Given the description of an element on the screen output the (x, y) to click on. 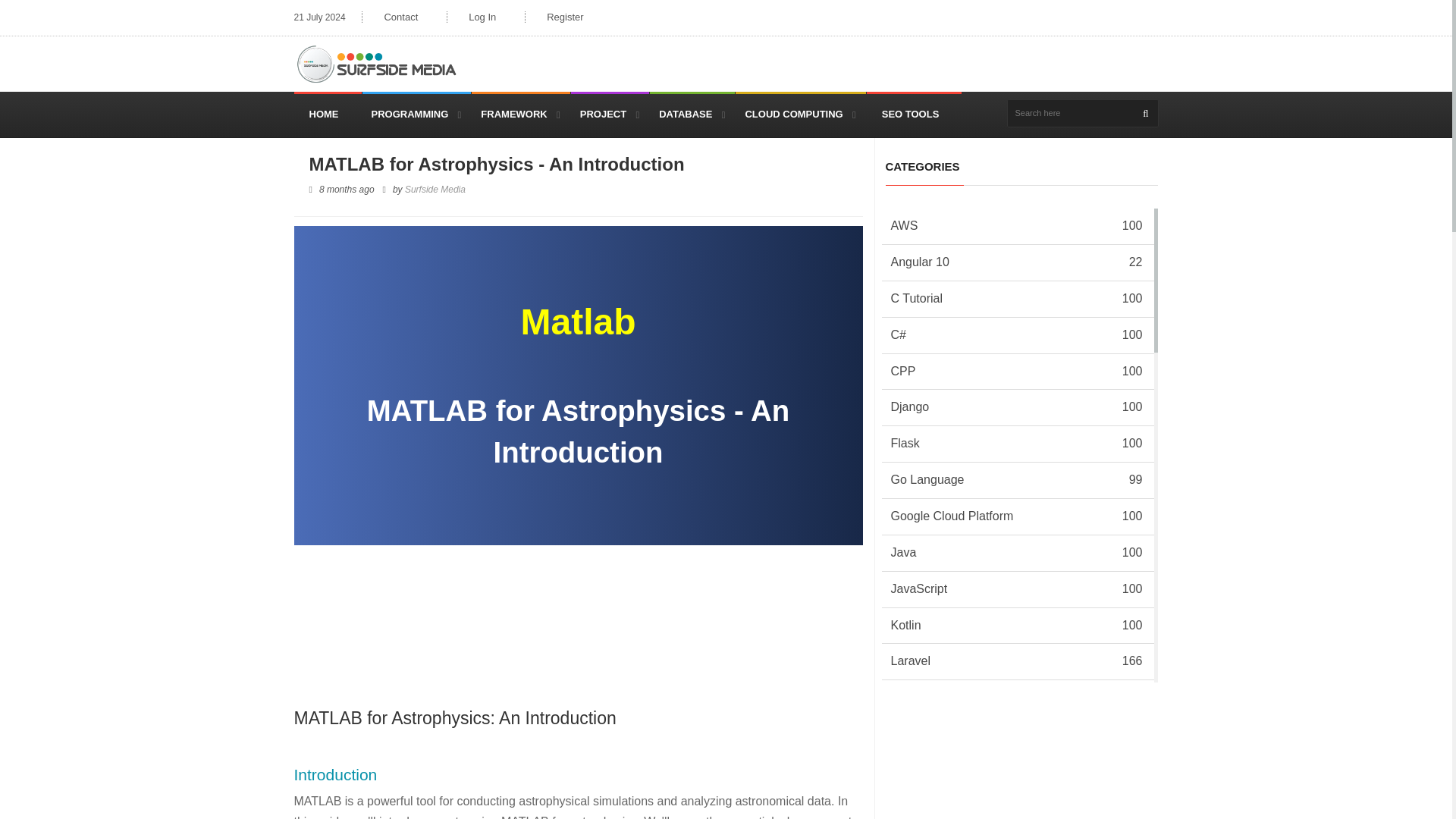
HOME (327, 114)
DATABASE (692, 114)
CLOUD COMPUTING (799, 114)
Log In (482, 16)
PROJECT (609, 114)
Register (564, 16)
Advertisement (569, 594)
FRAMEWORK (520, 114)
Contact (400, 16)
Advertisement (1021, 765)
PROGRAMMING (416, 114)
